Given the description of an element on the screen output the (x, y) to click on. 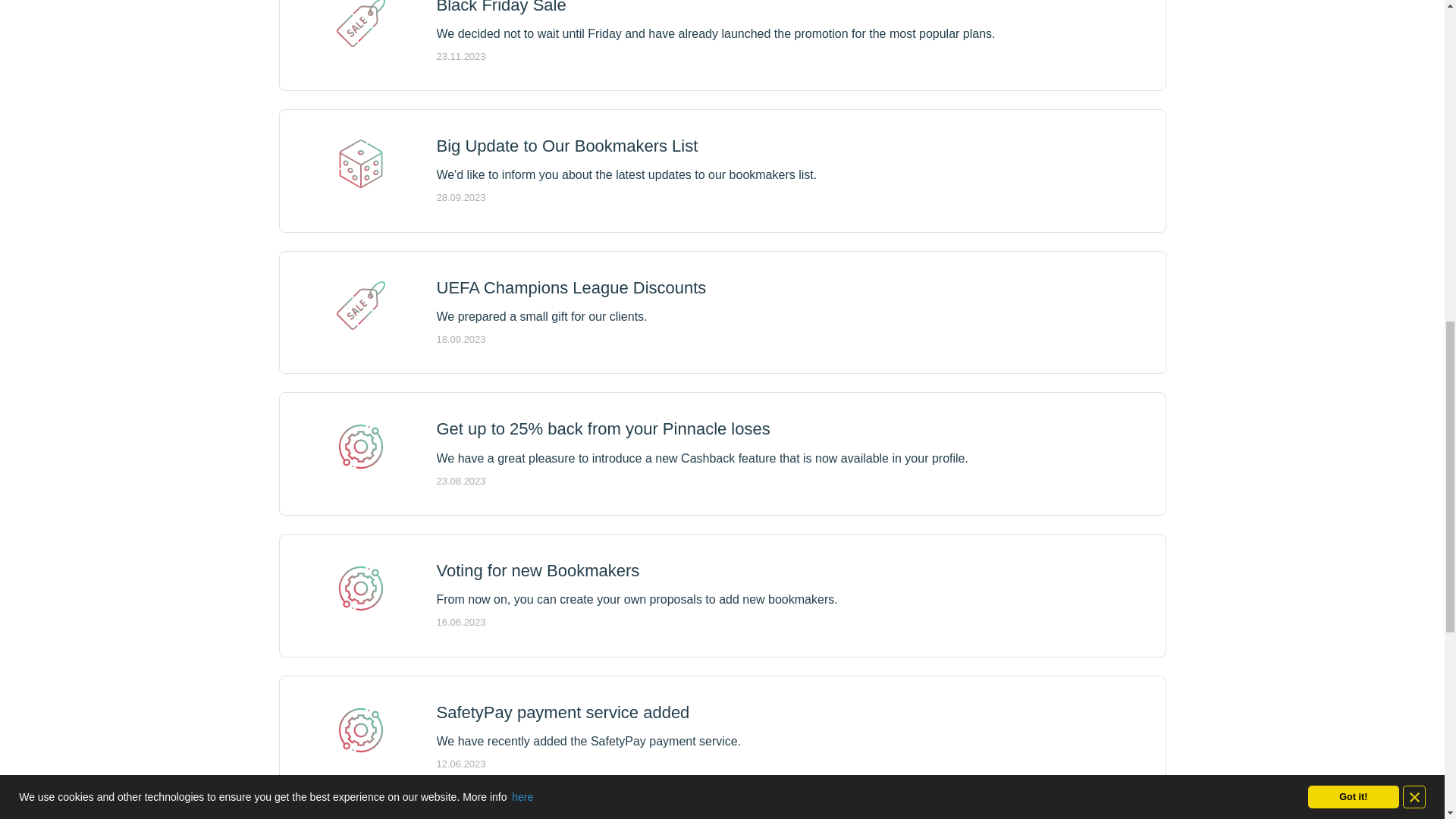
Big Update to Our Bookmakers List (567, 145)
UEFA Champions League Discounts (571, 287)
Black Friday Sale (501, 7)
